Given the description of an element on the screen output the (x, y) to click on. 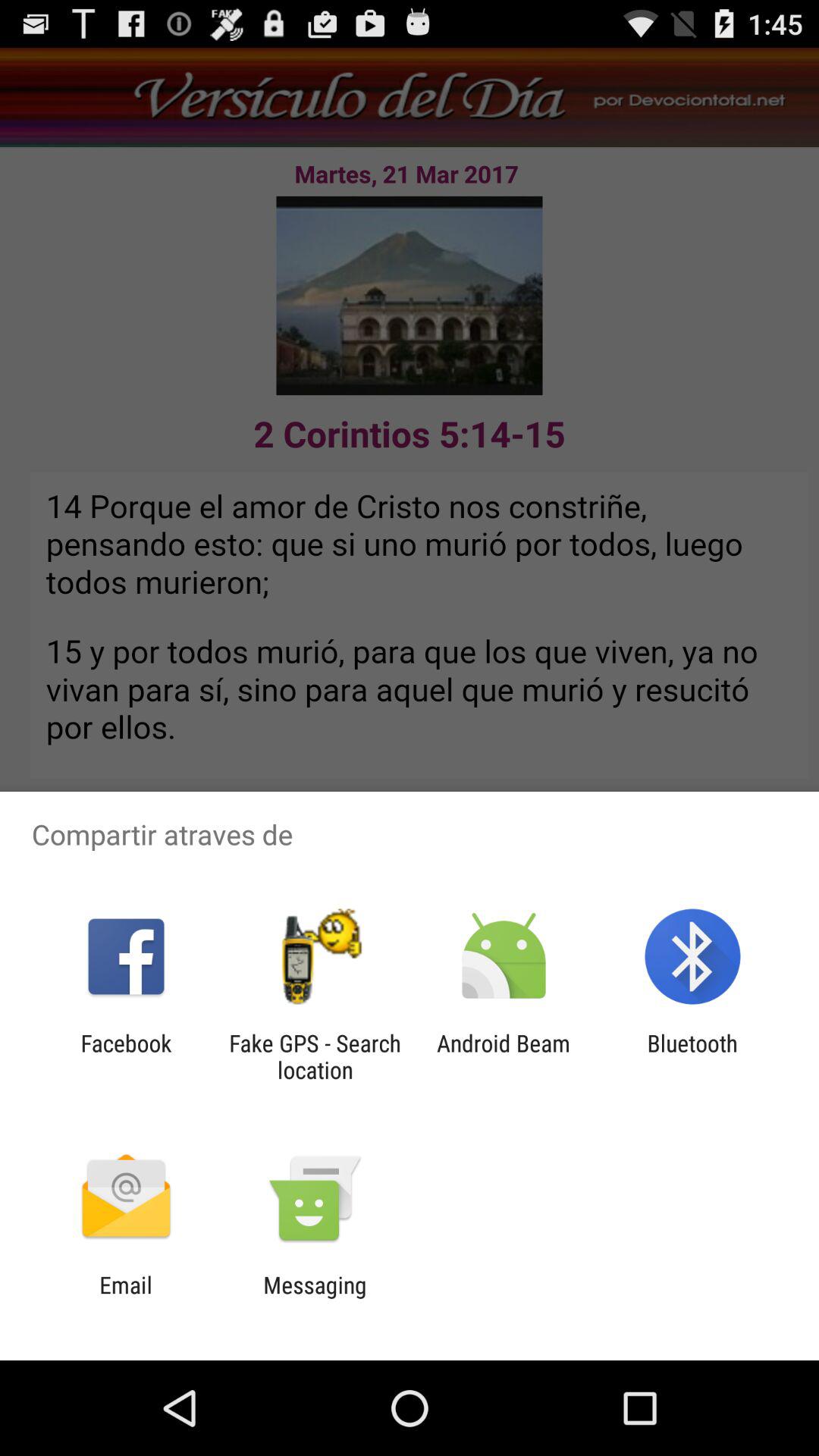
click icon next to the facebook app (314, 1056)
